Given the description of an element on the screen output the (x, y) to click on. 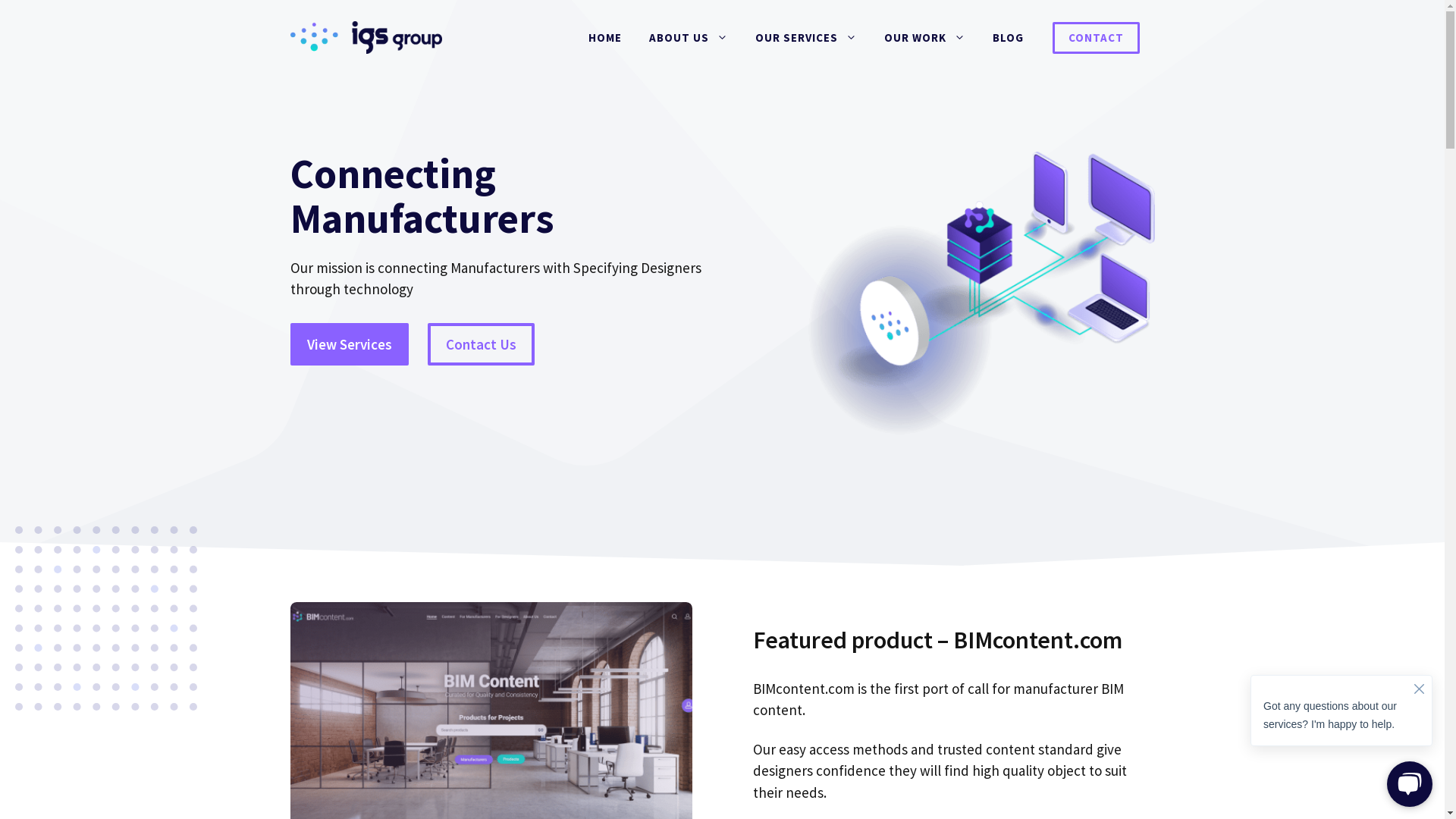
View Services Element type: text (348, 344)
CONTACT Element type: text (1095, 37)
HOME Element type: text (604, 37)
ABOUT US Element type: text (688, 37)
OUR WORK Element type: text (924, 37)
Contact Us Element type: text (480, 344)
OUR SERVICES Element type: text (805, 37)
BLOG Element type: text (1007, 37)
